Given the description of an element on the screen output the (x, y) to click on. 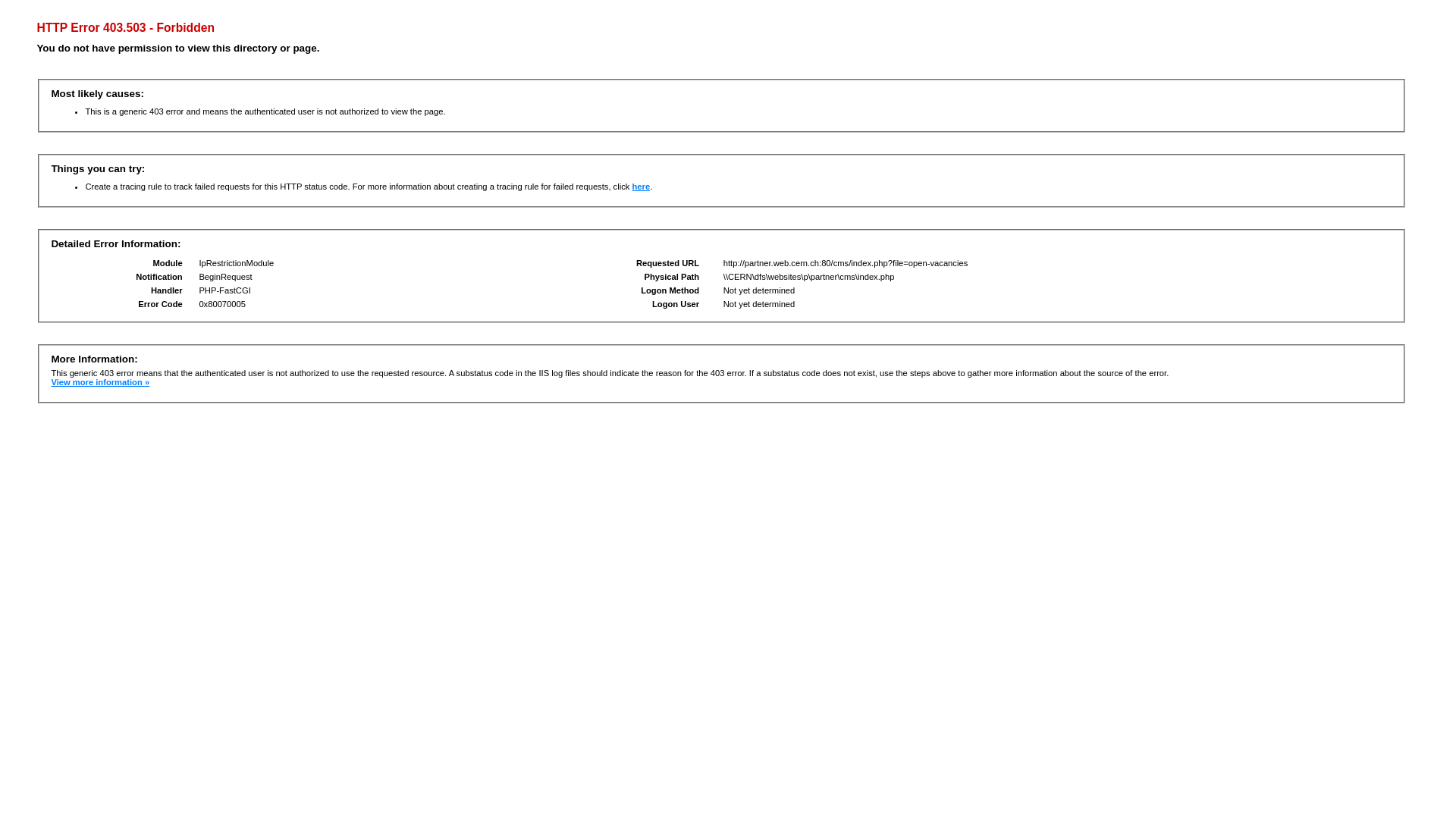
here Element type: text (640, 186)
